Given the description of an element on the screen output the (x, y) to click on. 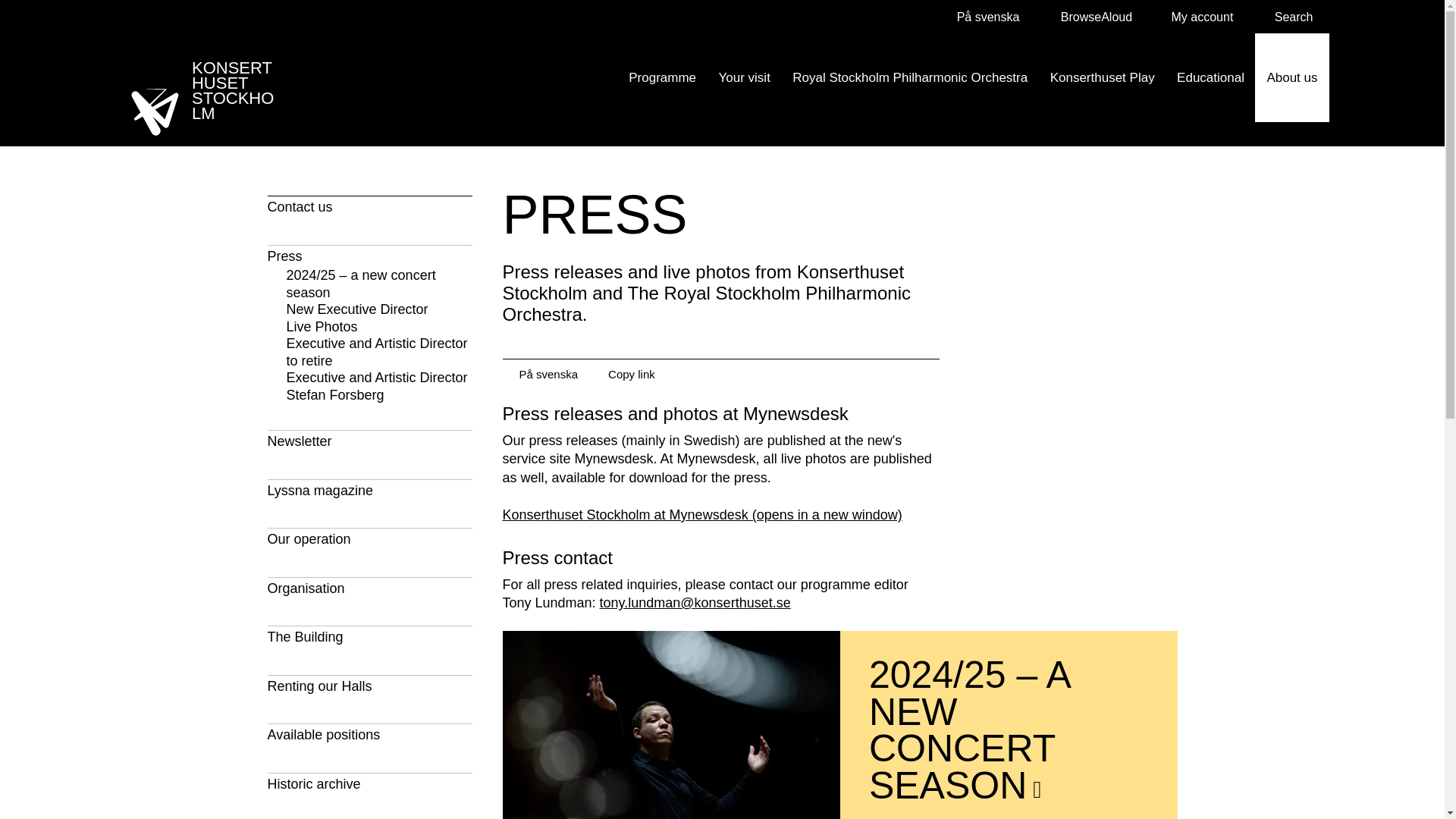
BrowseAloud (1087, 16)
Programme (662, 77)
KONSERTHUSET STOCKHOLM (206, 93)
Search (1288, 16)
Educational (1210, 77)
Go to content (15, 11)
Konserthuset Play (1102, 77)
Royal Stockholm Philharmonic Orchestra (909, 77)
My account (1195, 16)
